Given the description of an element on the screen output the (x, y) to click on. 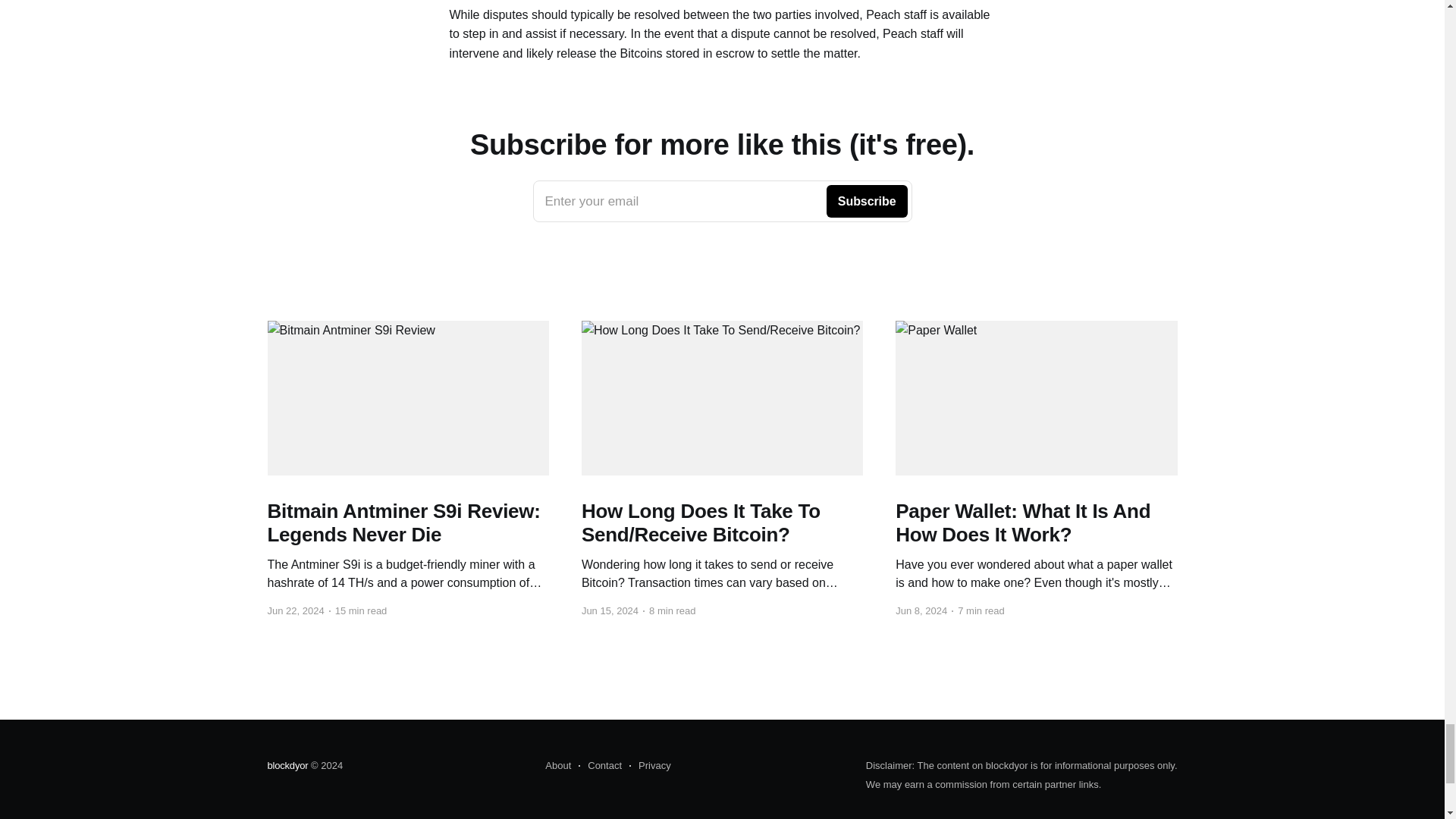
Privacy (649, 765)
Contact (721, 201)
About (599, 765)
blockdyor (557, 765)
